Given the description of an element on the screen output the (x, y) to click on. 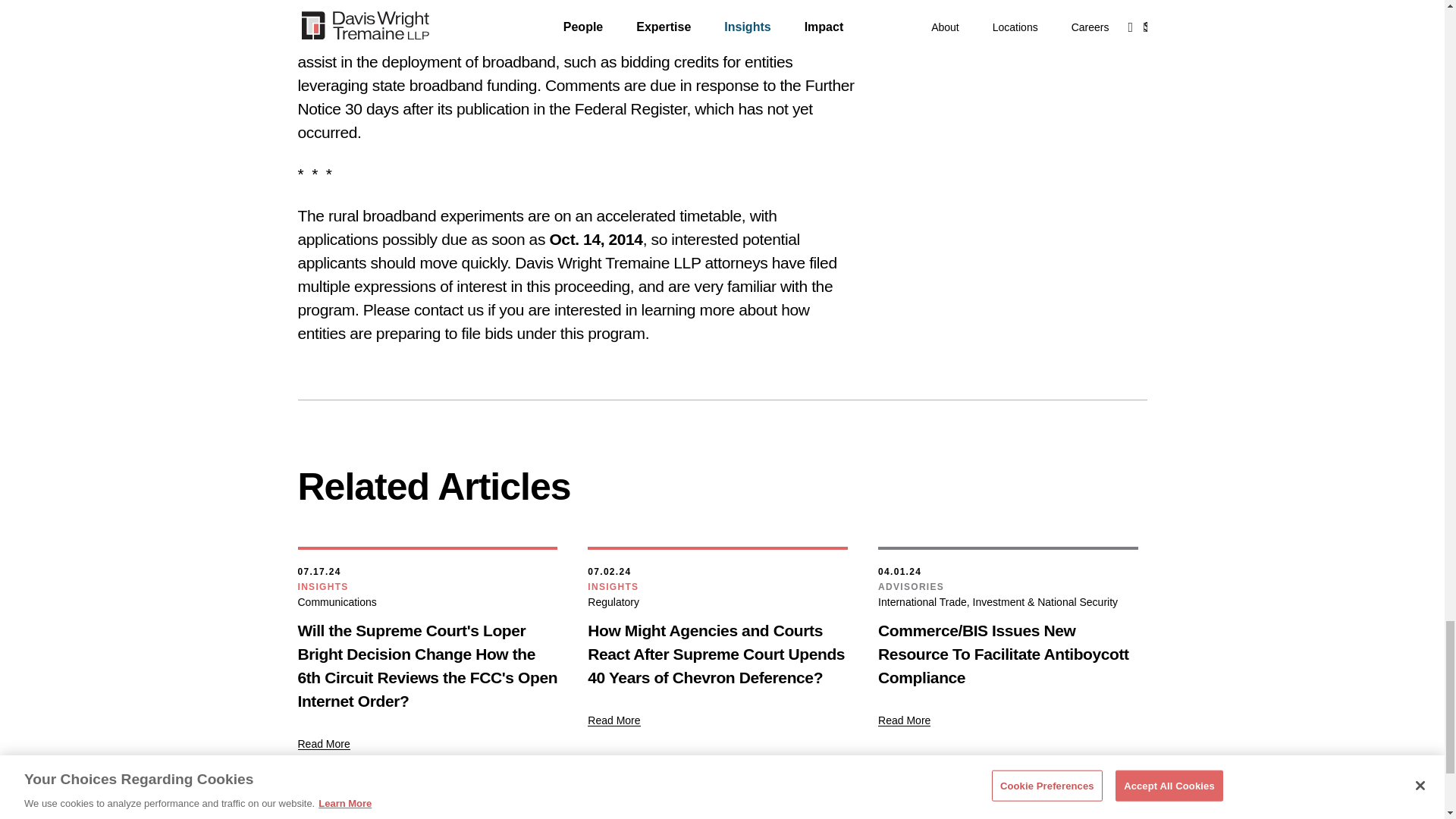
Read More (614, 719)
Read More (903, 719)
Read More (323, 743)
